Given the description of an element on the screen output the (x, y) to click on. 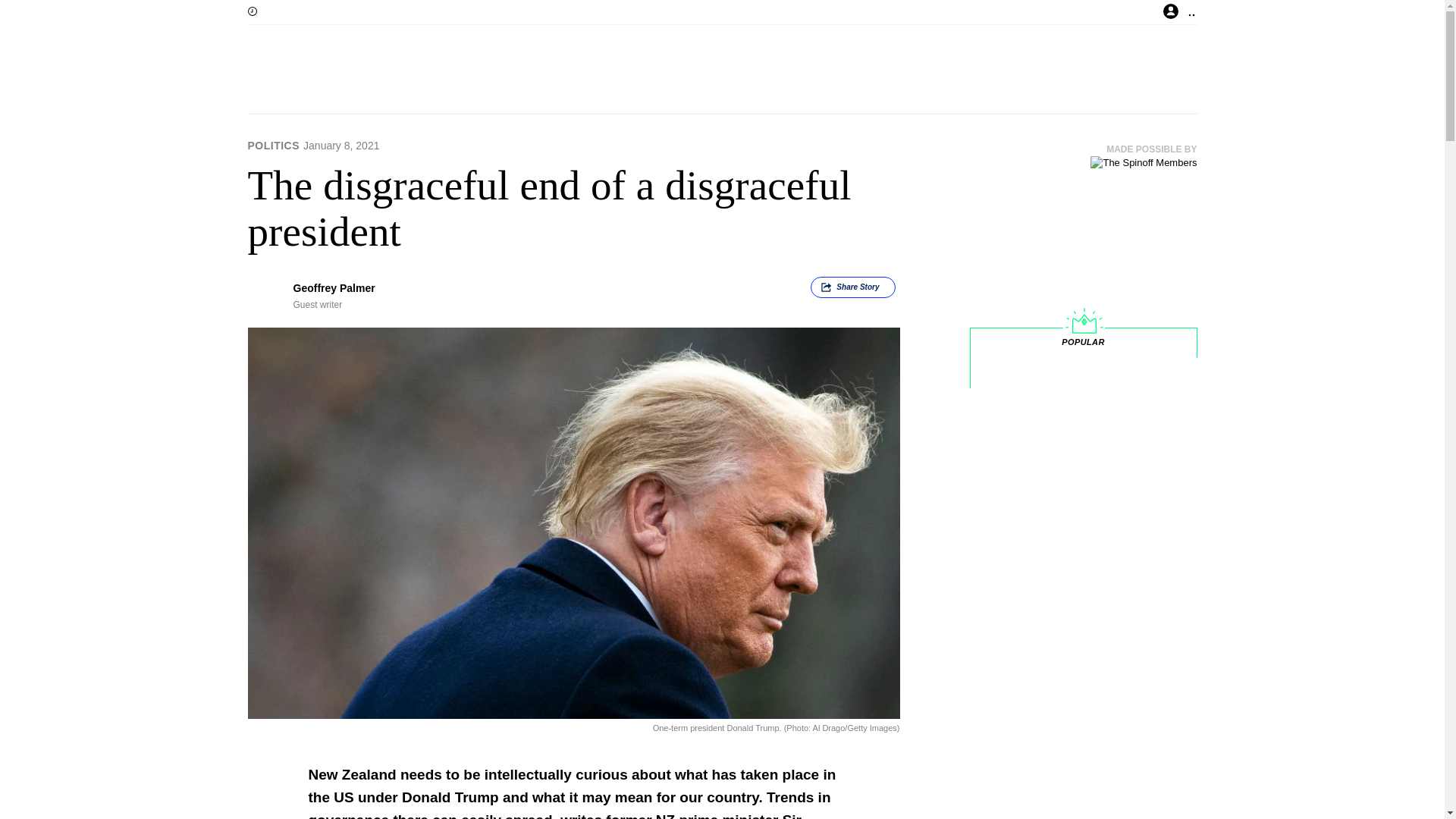
Geoffrey Palmer (333, 287)
The Spinoff (673, 72)
POLITICS (273, 145)
view all posts by Geoffrey Palmer (333, 287)
